Given the description of an element on the screen output the (x, y) to click on. 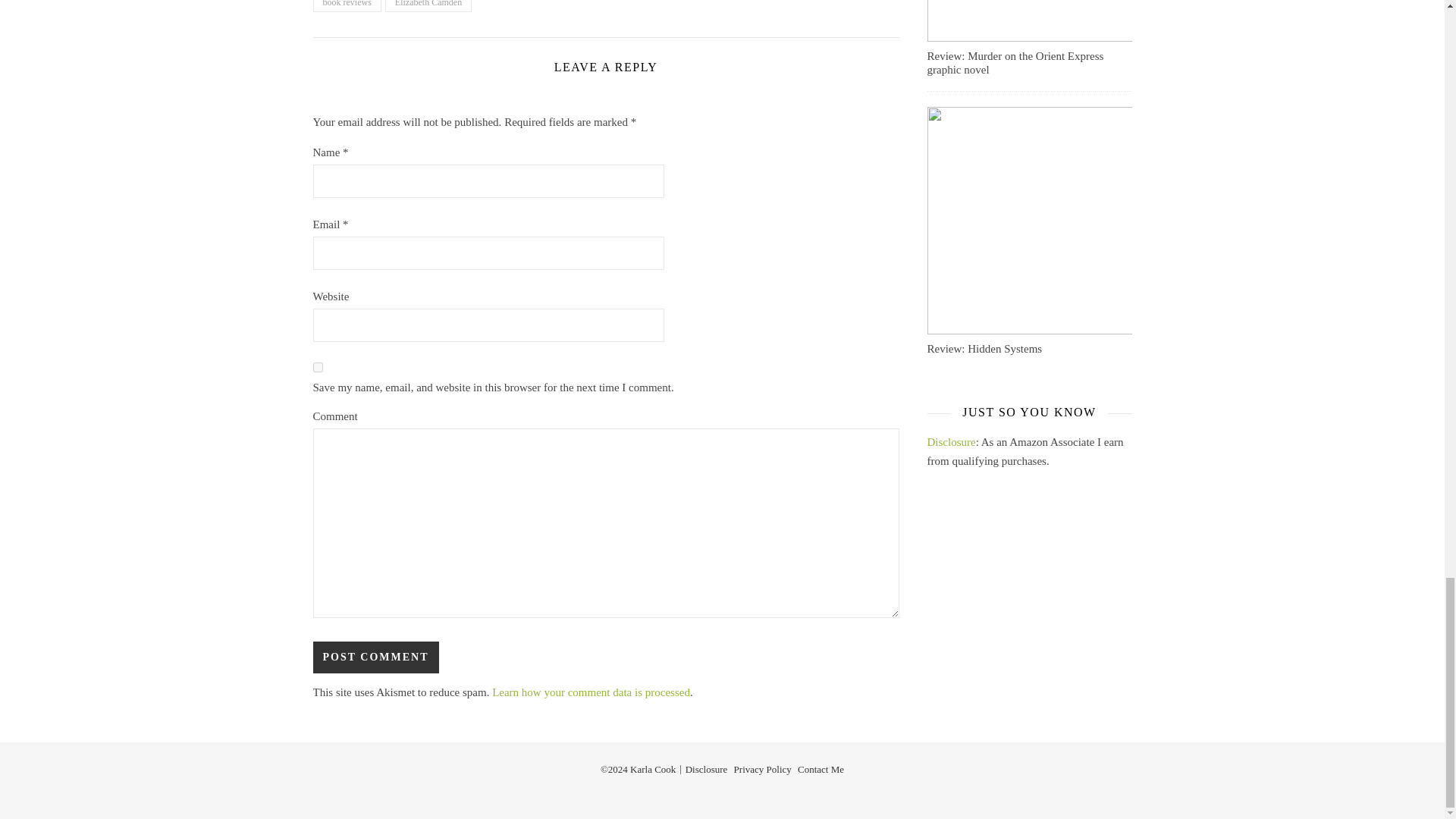
Post Comment (375, 657)
yes (317, 367)
